Given the description of an element on the screen output the (x, y) to click on. 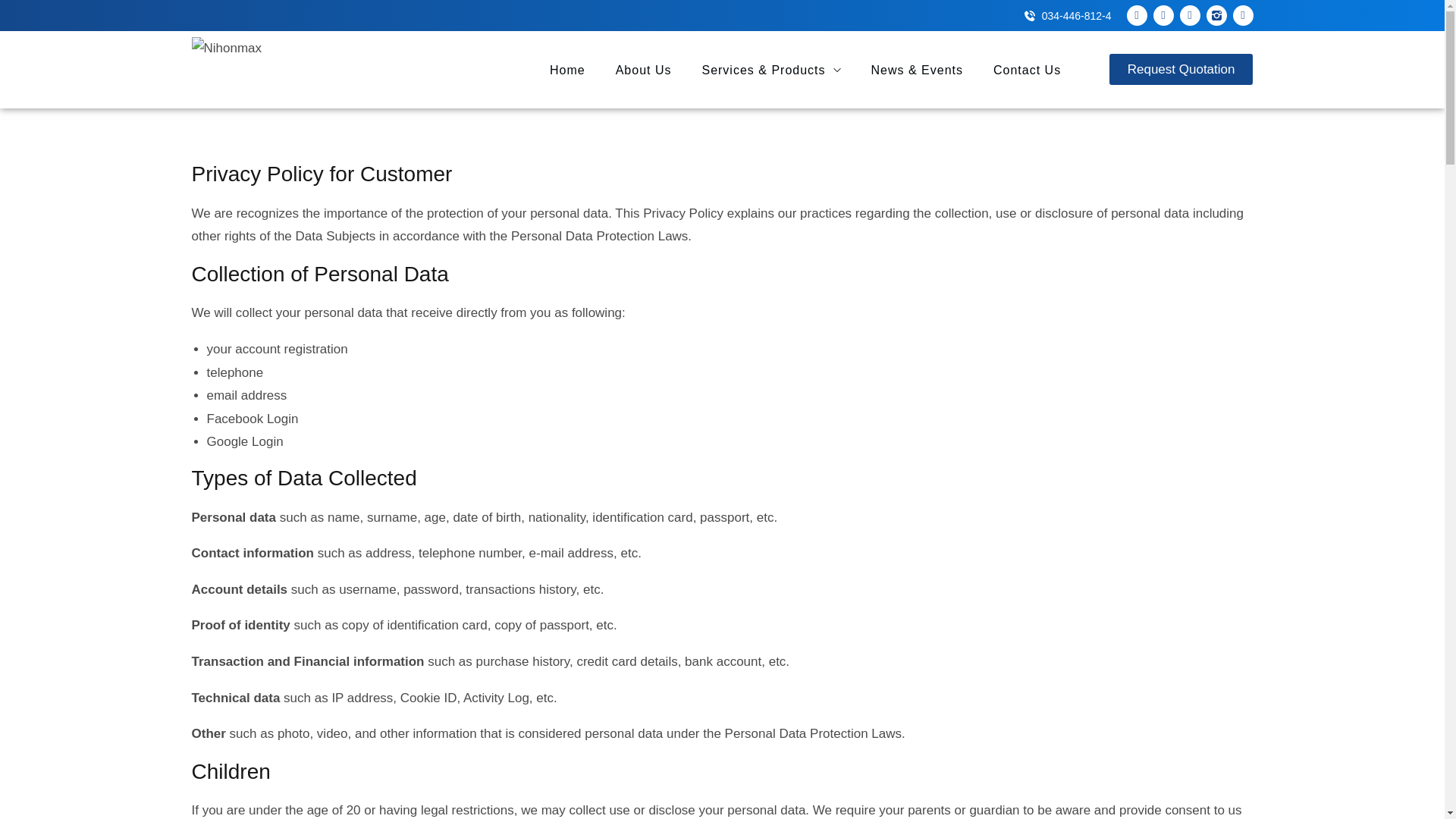
Contact Us (1026, 69)
About Us (643, 69)
Request Quotation (1181, 68)
Home (566, 69)
034-446-812-4 (1067, 15)
